Given the description of an element on the screen output the (x, y) to click on. 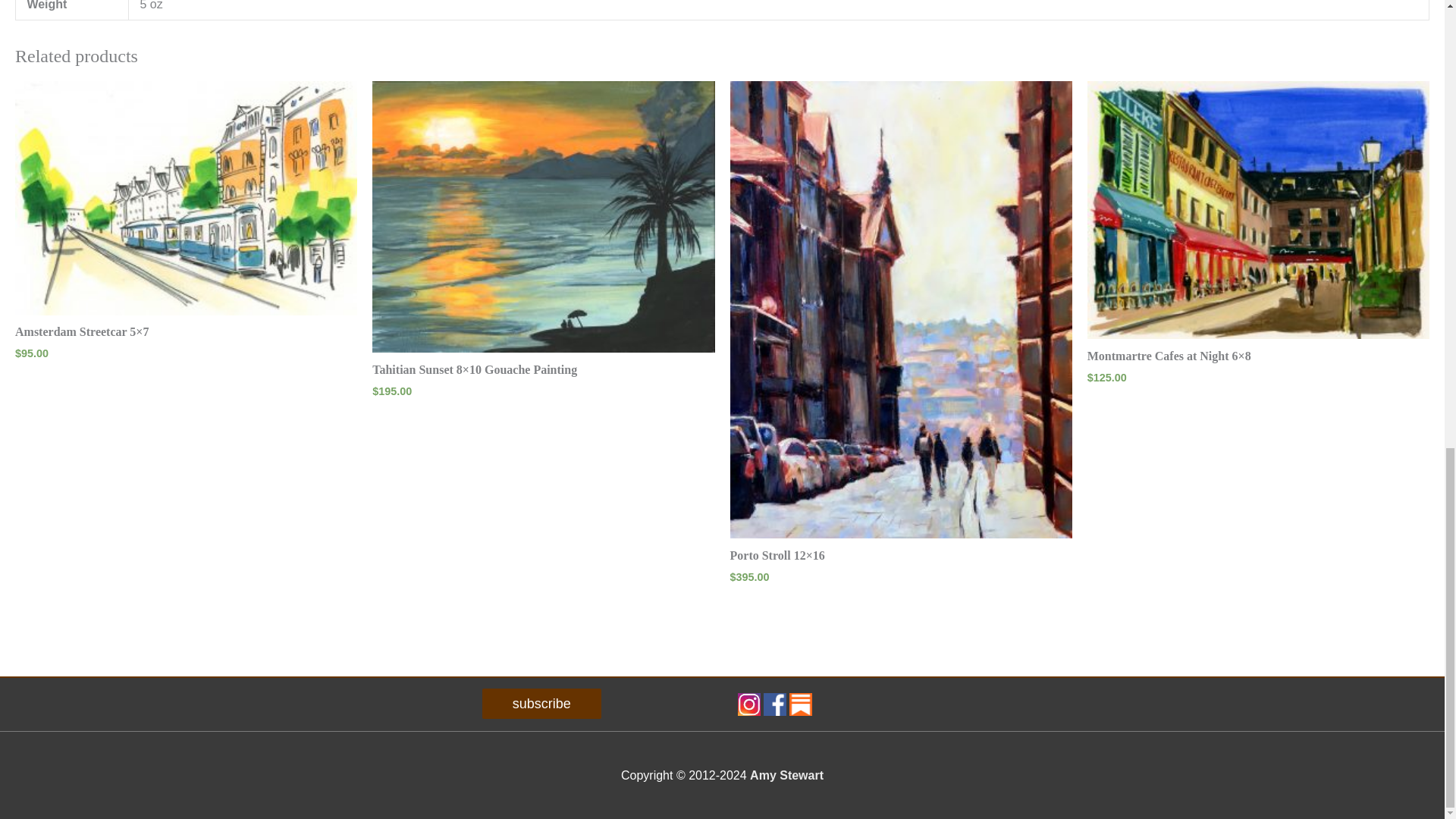
Amy Stewart on Facebook (774, 703)
Amy Stewart on Instagram (748, 703)
Amy Stewart on Substack (800, 703)
Bestselling Author Amy Stewart (786, 775)
subscribe (541, 703)
Amy Stewart (786, 775)
